Given the description of an element on the screen output the (x, y) to click on. 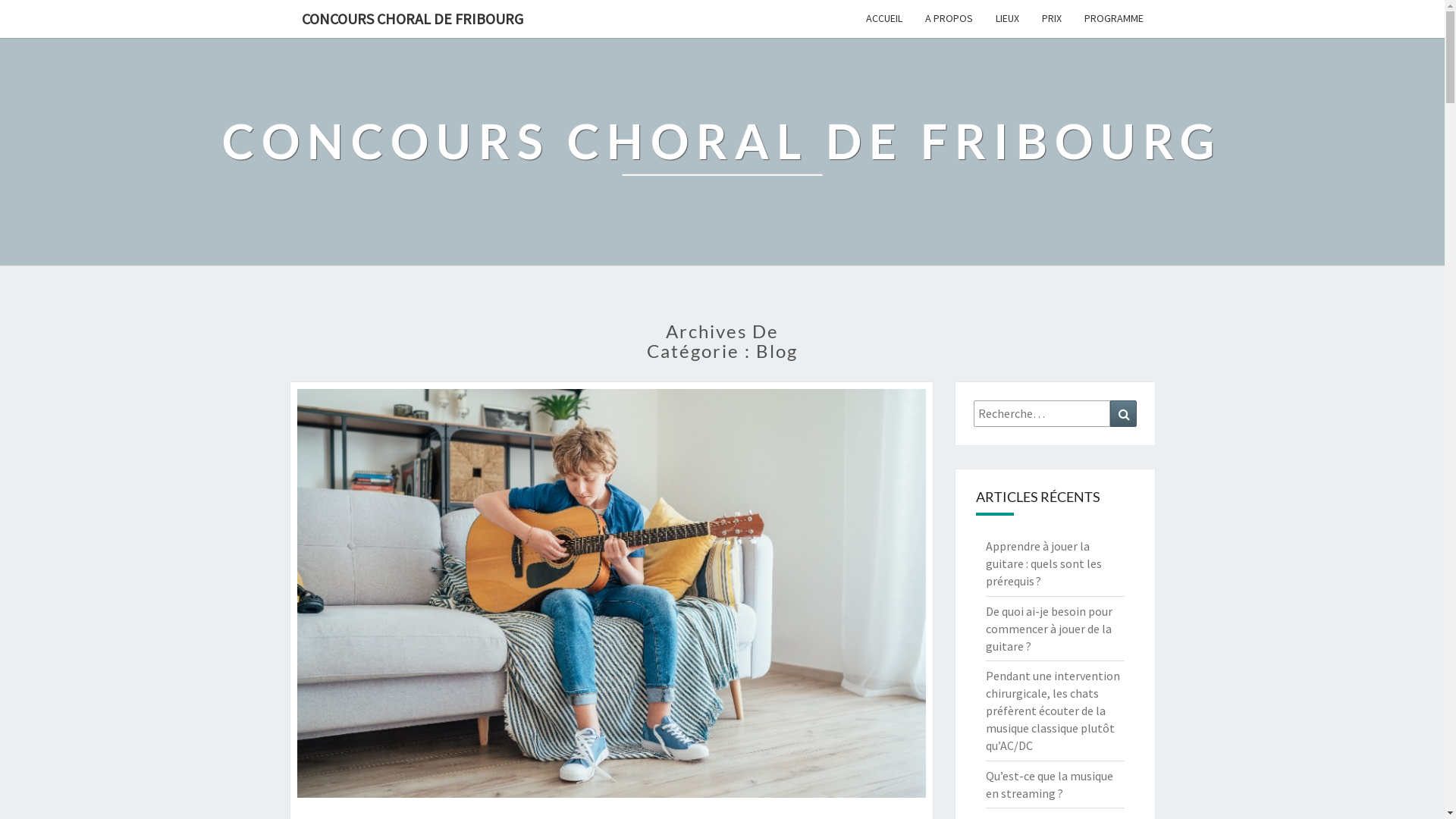
LIEUX Element type: text (1007, 18)
PRIX Element type: text (1050, 18)
CONCOURS CHORAL DE FRIBOURG Element type: text (411, 18)
A PROPOS Element type: text (948, 18)
CONCOURS CHORAL DE FRIBOURG Element type: text (722, 151)
ACCUEIL Element type: text (883, 18)
Recherche Element type: text (1123, 413)
PROGRAMME Element type: text (1113, 18)
